Given the description of an element on the screen output the (x, y) to click on. 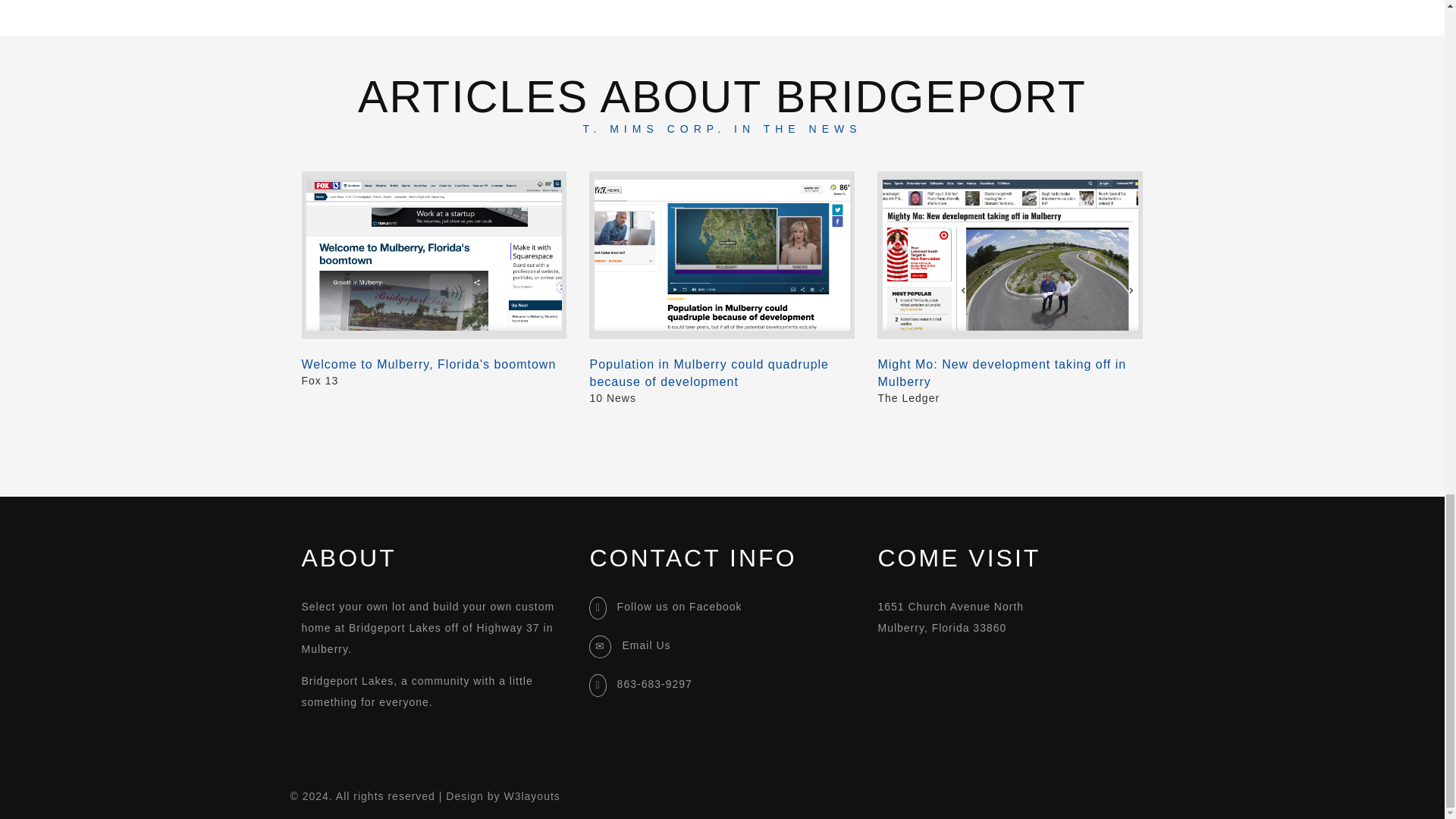
Follow us on Facebook (679, 606)
Welcome to Mulberry, Florida's boomtown (434, 364)
863-683-9297 (655, 684)
W3layouts (531, 796)
Email Us (645, 645)
Might Mo: New development taking off in Mulberry (1009, 373)
